Given the description of an element on the screen output the (x, y) to click on. 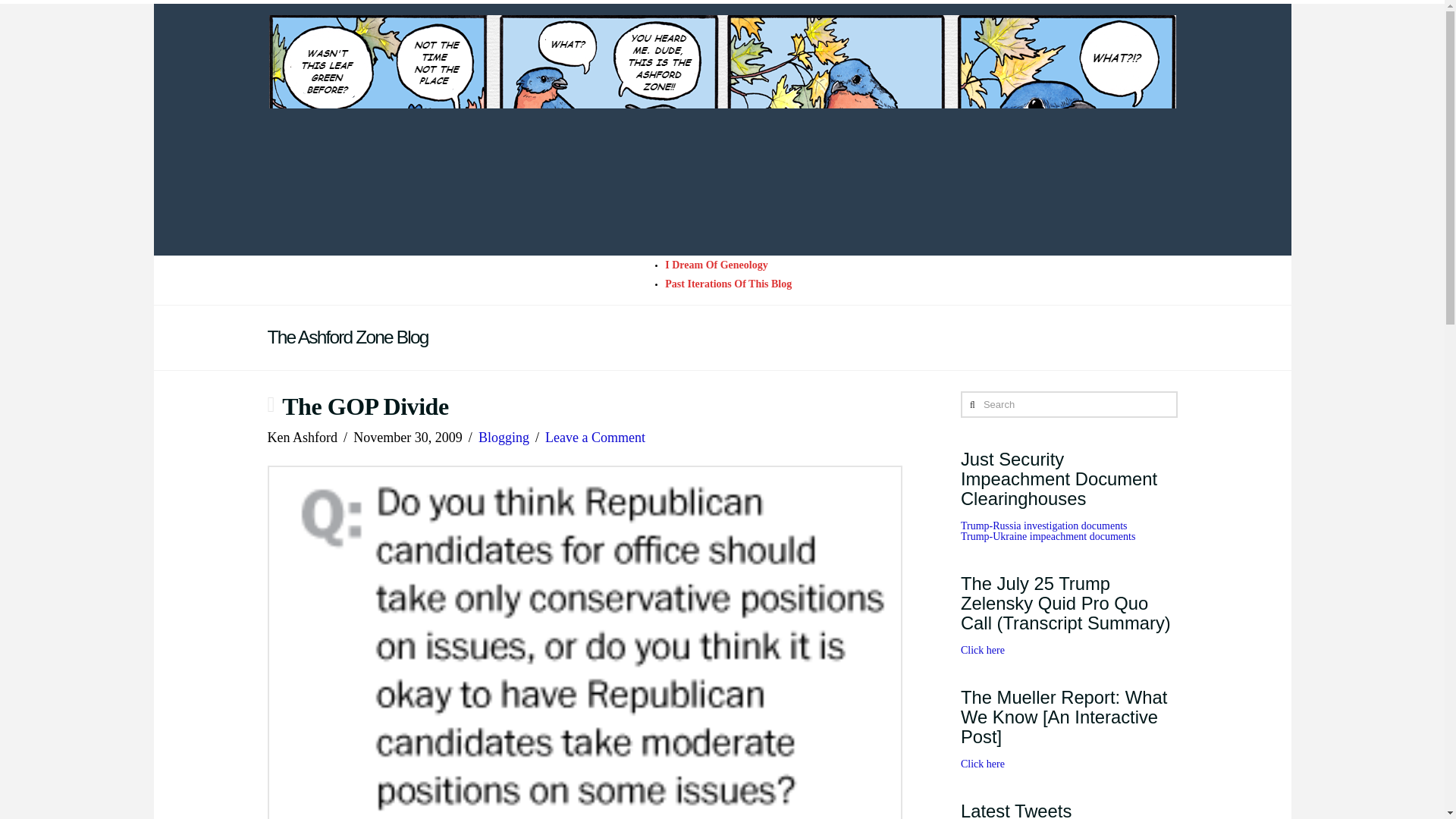
Blogging (504, 437)
Click here (982, 650)
Leave a Comment (594, 437)
Past Iterations Of This Blog (728, 283)
Trump-Ukraine impeachment documents (1047, 536)
Trump-Russia investigation documents (1043, 525)
Click here (982, 763)
I Dream Of Geneology (716, 265)
